Given the description of an element on the screen output the (x, y) to click on. 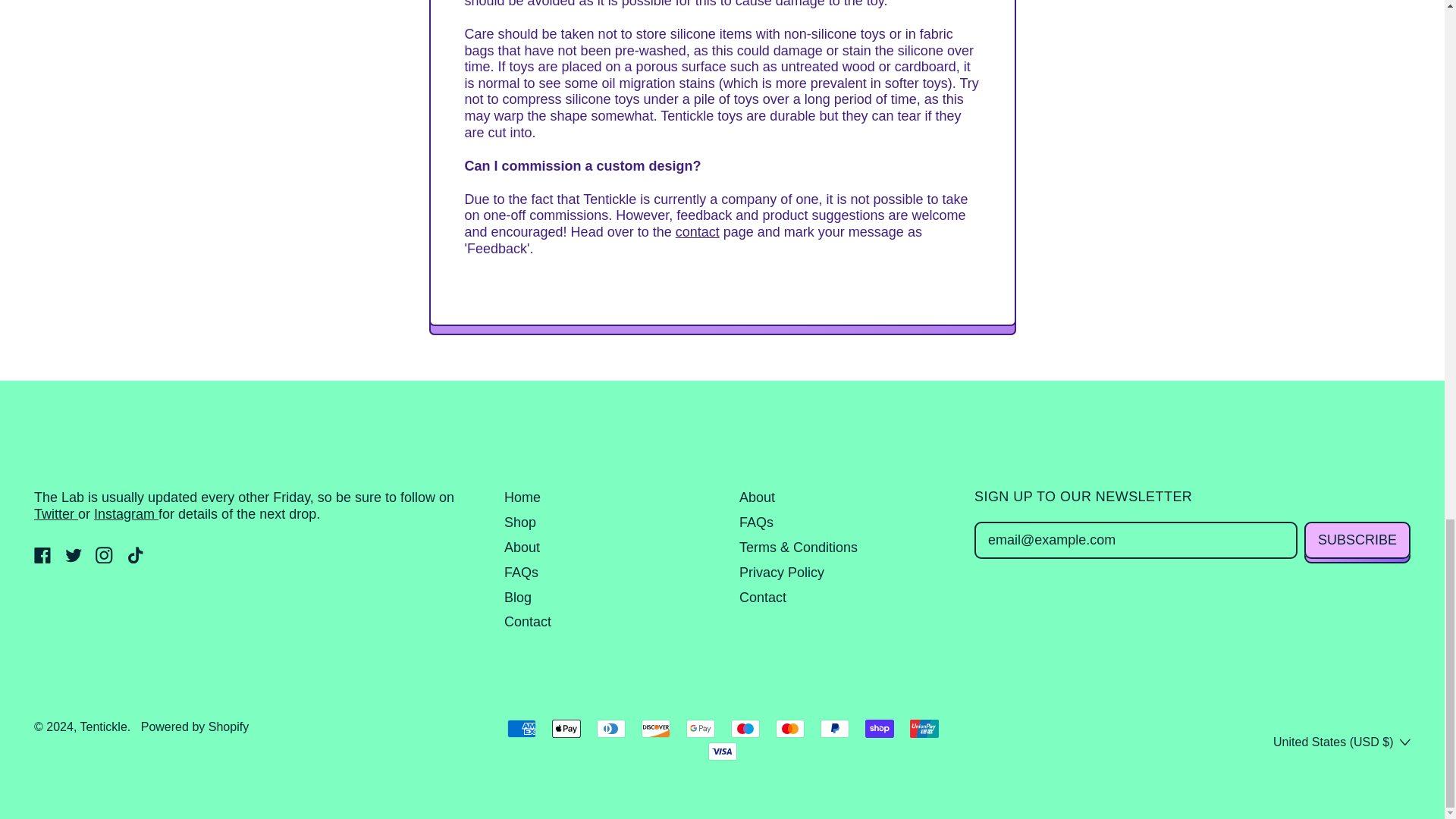
Shop (519, 522)
Facebook (41, 558)
Instagram (104, 558)
Contact (527, 621)
About (756, 497)
About (521, 547)
Twitter (73, 558)
Twitter page for Tentickle Toys (55, 513)
Blog (517, 597)
FAQs (756, 522)
